Given the description of an element on the screen output the (x, y) to click on. 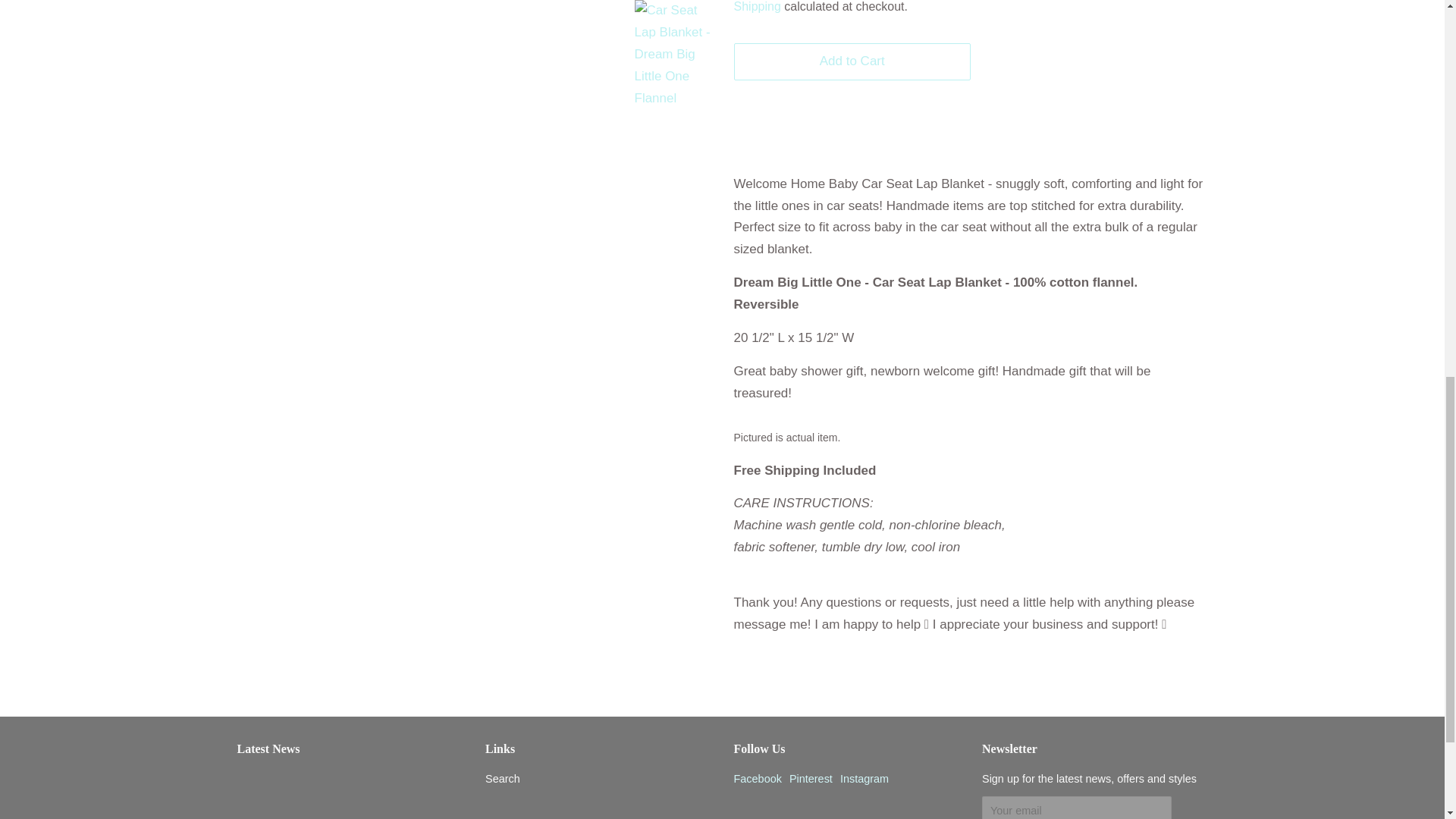
Coastline Boutique- Beaufort, SC on Facebook (757, 778)
Coastline Boutique- Beaufort, SC on Pinterest (810, 778)
Latest News (267, 748)
Add to Cart (852, 61)
Pinterest (810, 778)
Facebook (757, 778)
Instagram (864, 778)
Search (501, 778)
Coastline Boutique- Beaufort, SC on Instagram (864, 778)
Shipping (756, 6)
